Given the description of an element on the screen output the (x, y) to click on. 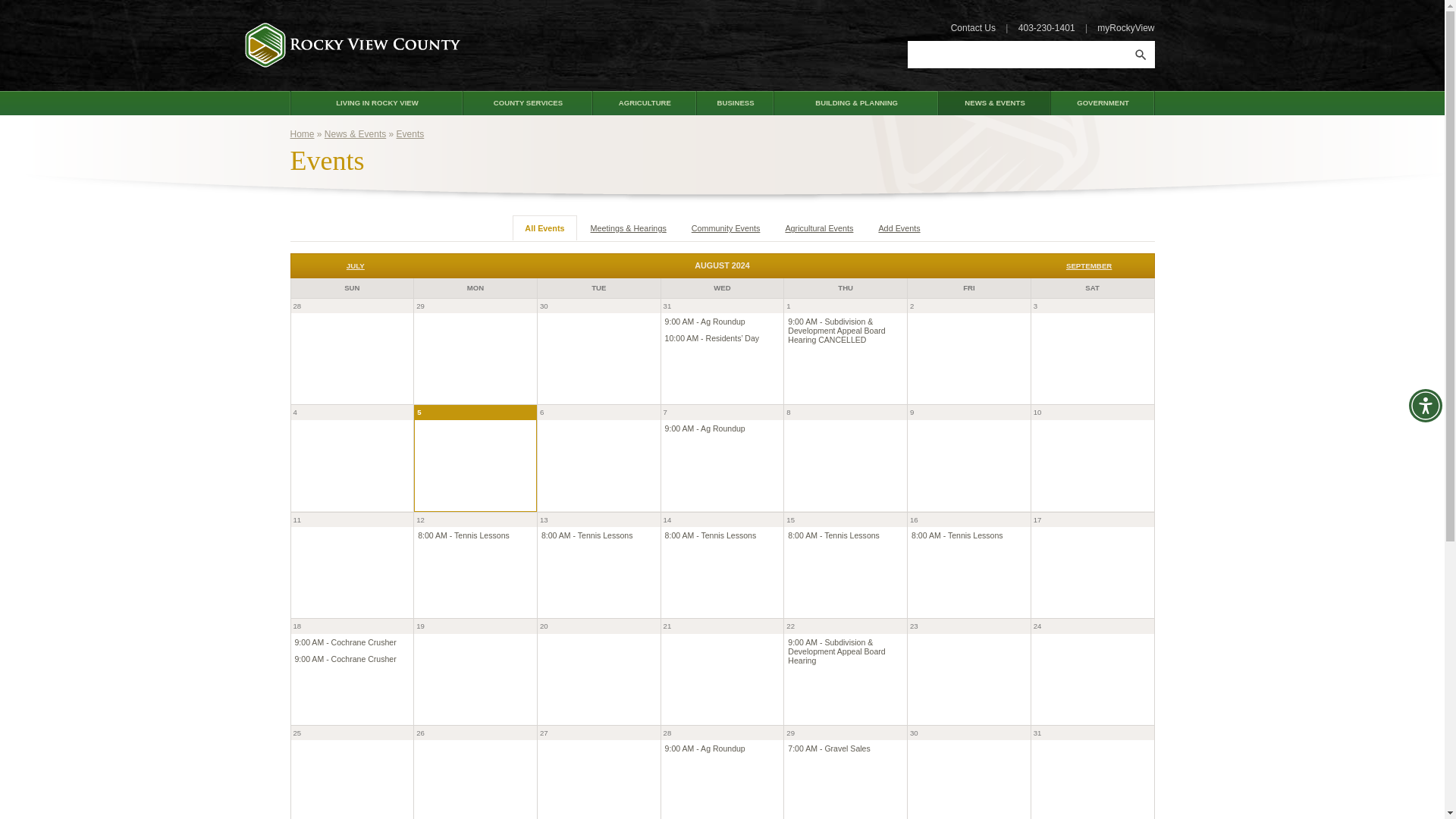
Contact Us (973, 27)
9:00 AM - Ag Roundup (705, 320)
8:00 AM - Tennis Lessons (711, 534)
Accessibility Menu (1425, 405)
8:00 AM - Tennis Lessons (833, 534)
All Events (544, 227)
Rocky View County: Cultivating Communities (352, 44)
JULY (355, 265)
9:00 AM - Cochrane Crusher (345, 642)
Community Events (725, 227)
Add Events (898, 227)
8:00 AM - Tennis Lessons (587, 534)
8:00 AM - Tennis Lessons (957, 534)
8:00 AM - Tennis Lessons (463, 534)
Events (410, 133)
